Given the description of an element on the screen output the (x, y) to click on. 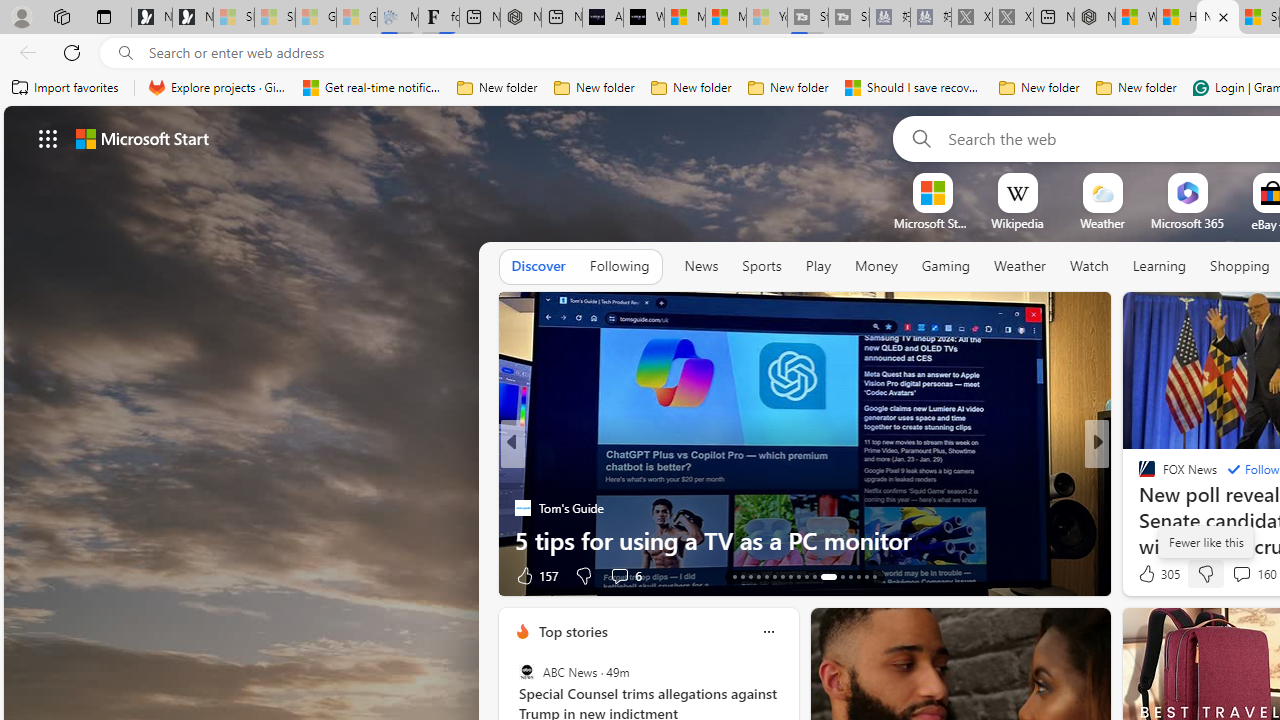
Following (619, 265)
Microsoft Start Sports (932, 223)
Back (24, 52)
